Given the description of an element on the screen output the (x, y) to click on. 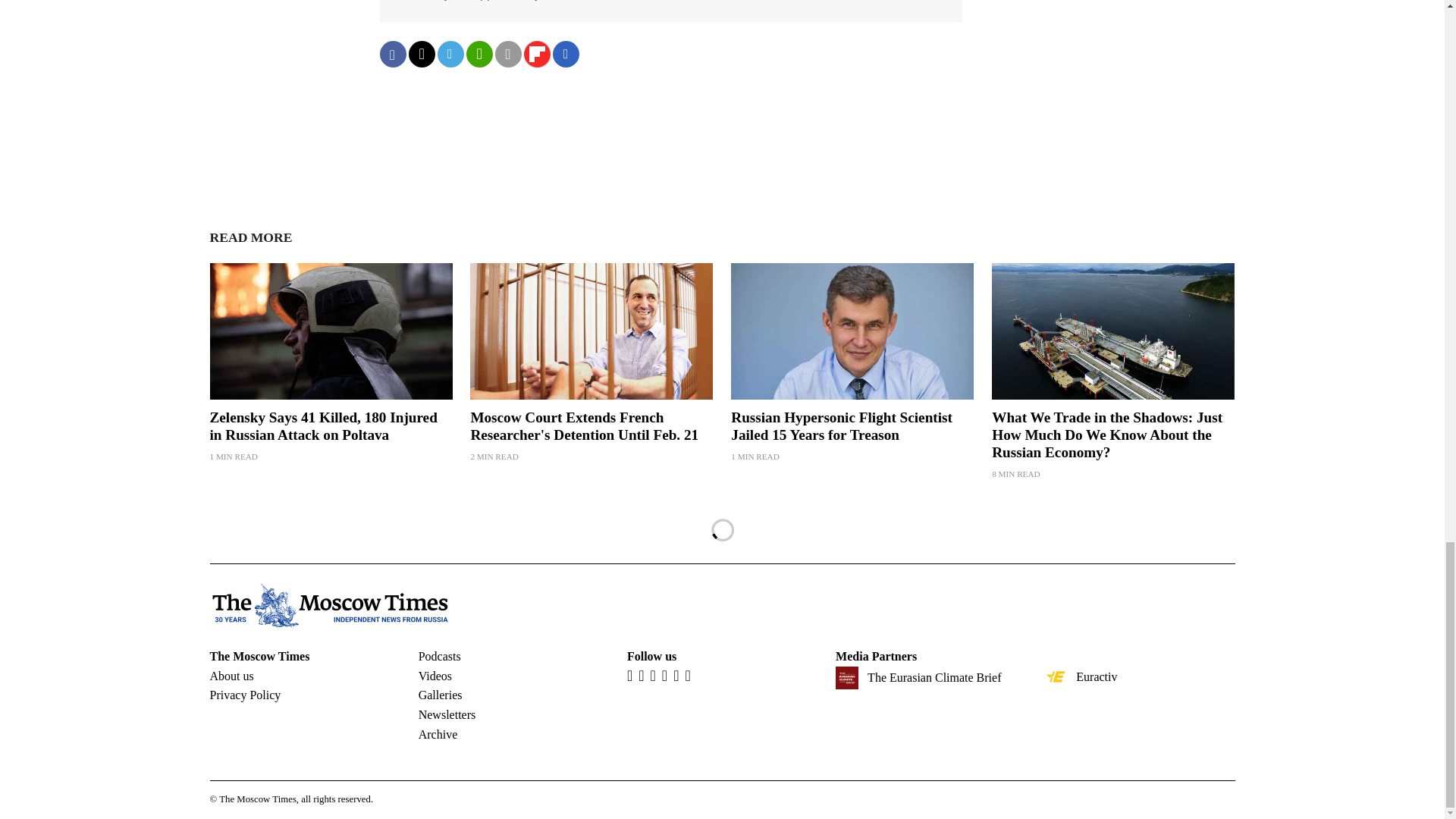
Share on Facebook (392, 53)
Share on Telegram (449, 53)
Share on Twitter (420, 53)
Share on Flipboard (536, 53)
